Given the description of an element on the screen output the (x, y) to click on. 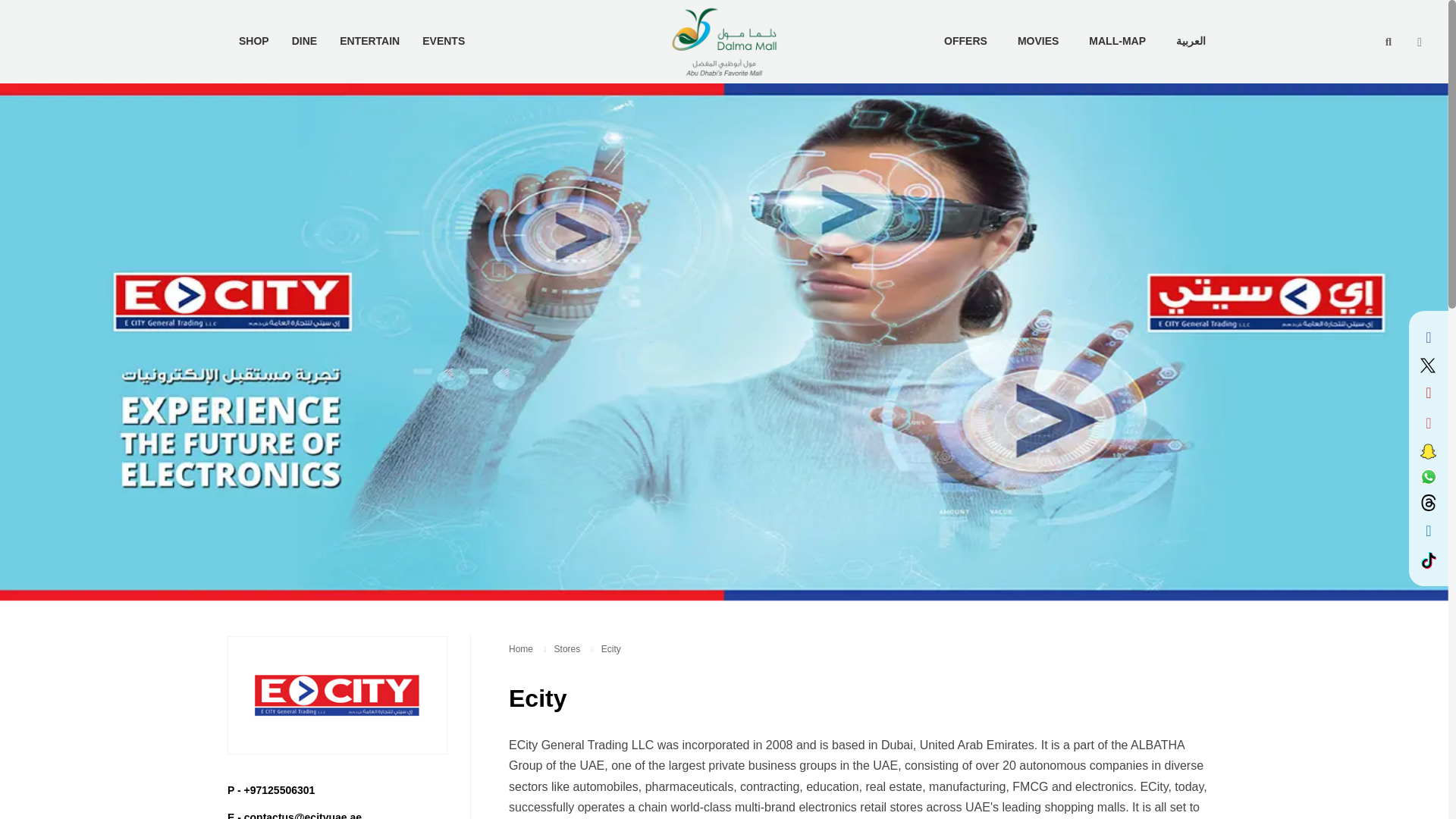
Home (520, 648)
DINE (305, 41)
ENTERTAIN (369, 41)
Ecity (611, 648)
OFFERS (965, 41)
SHOP (254, 41)
Stores (567, 648)
MALL-MAP (1117, 41)
EVENTS (443, 41)
MOVIES (1038, 41)
